Given the description of an element on the screen output the (x, y) to click on. 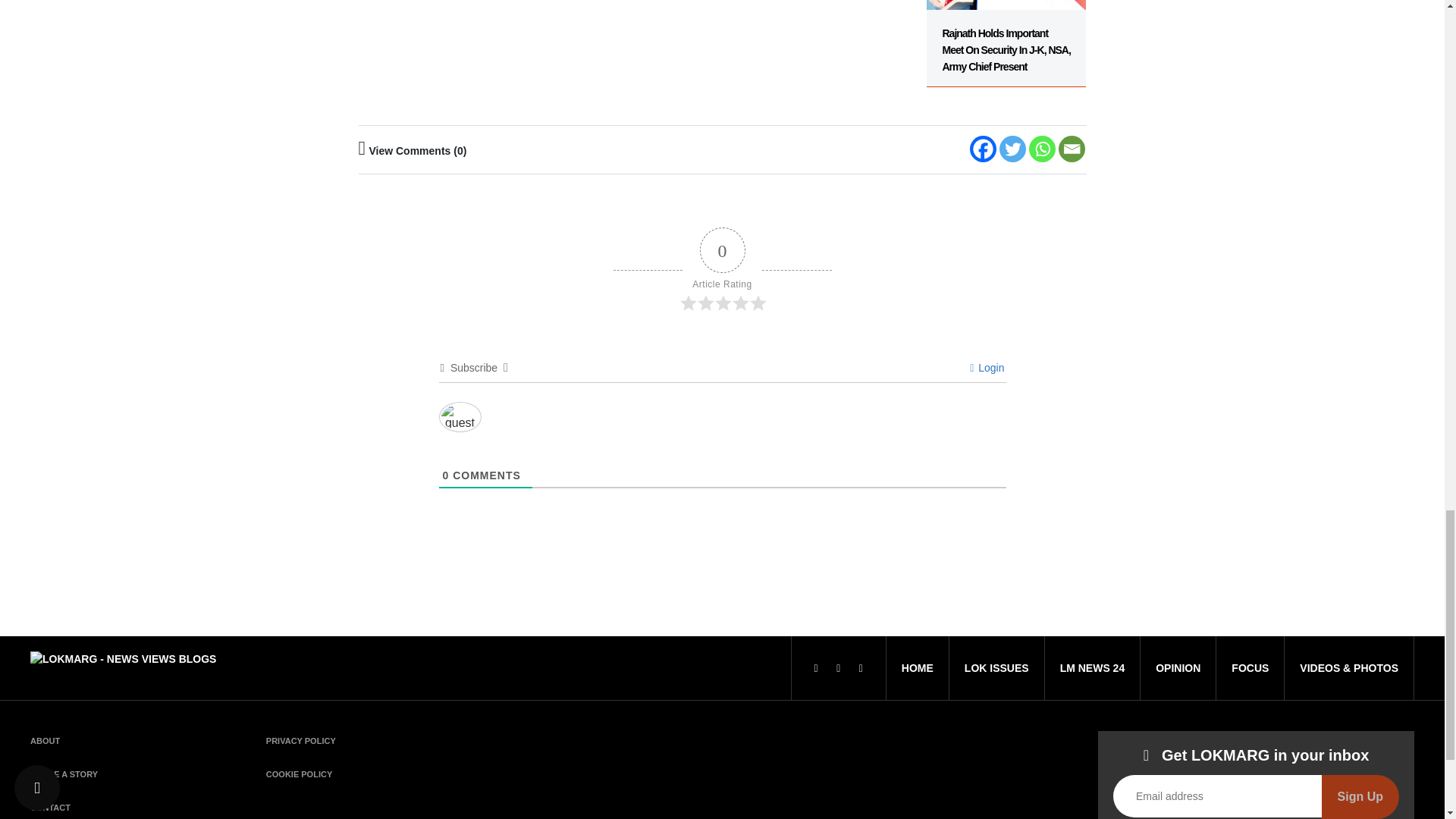
Login (986, 367)
Sign Up (1360, 796)
